Given the description of an element on the screen output the (x, y) to click on. 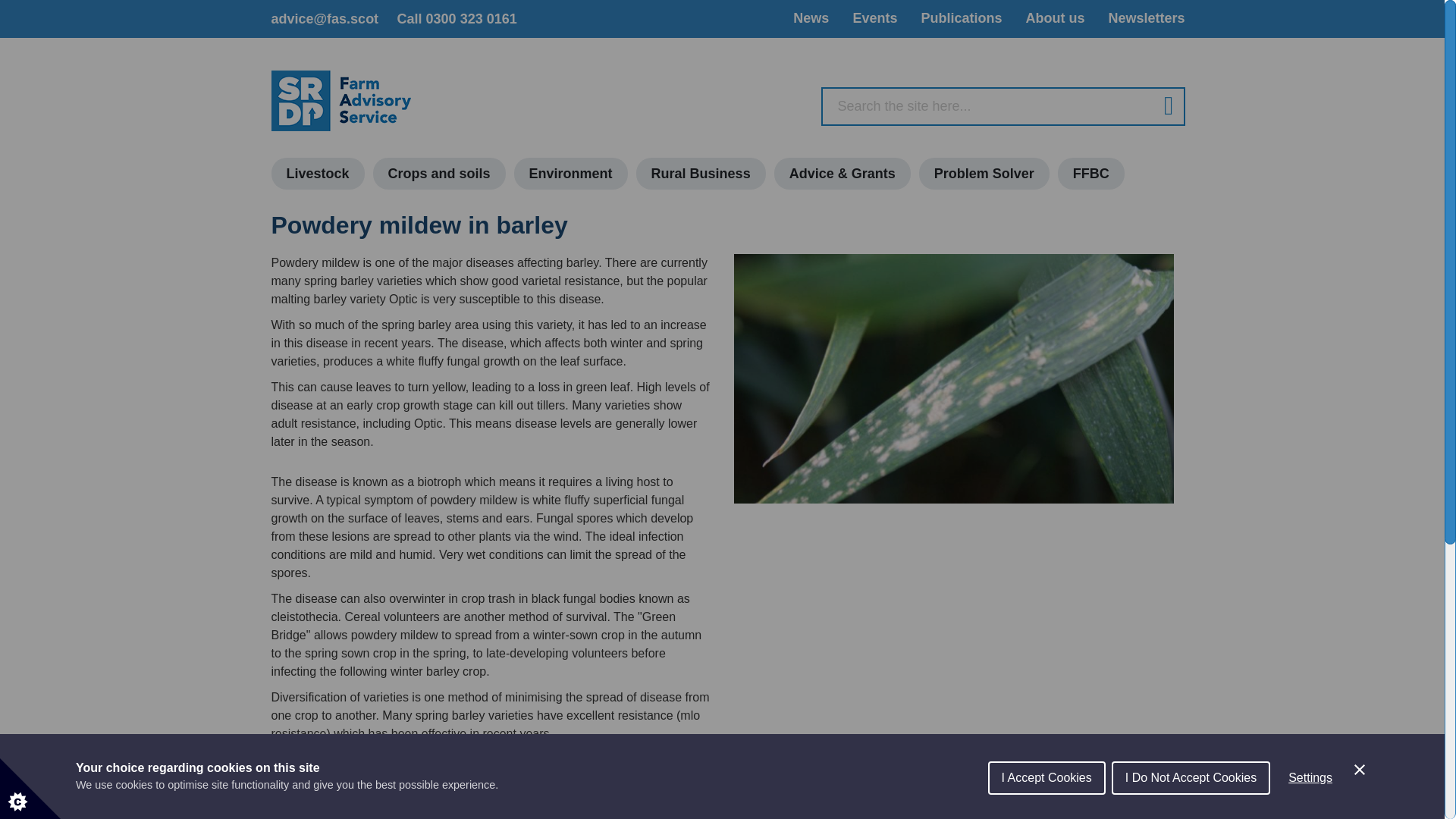
Search (1161, 105)
Events (873, 17)
EDM3 (953, 378)
Livestock (317, 173)
Newsletters (1146, 17)
Rural Business (700, 173)
Search (1161, 105)
About us (1054, 17)
Publications (960, 17)
fas-logo (341, 100)
Settings (1309, 794)
I Do Not Accept Cookies (1190, 802)
Search (1161, 105)
I Accept Cookies (1046, 805)
News (810, 17)
